Given the description of an element on the screen output the (x, y) to click on. 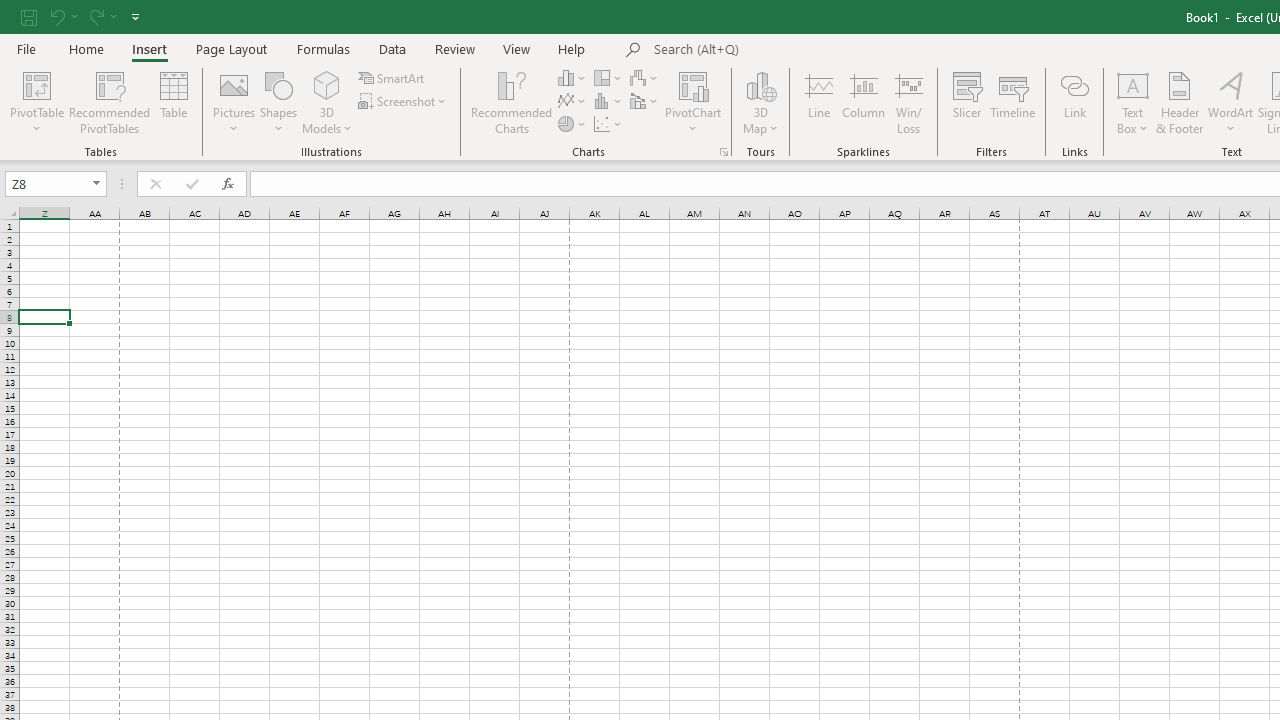
Screenshot (403, 101)
Insert Pie or Doughnut Chart (573, 124)
Insert Line or Area Chart (573, 101)
Recommended Charts (723, 151)
Win/Loss (909, 102)
3D Map (760, 102)
PivotChart (693, 102)
WordArt (1230, 102)
